Given the description of an element on the screen output the (x, y) to click on. 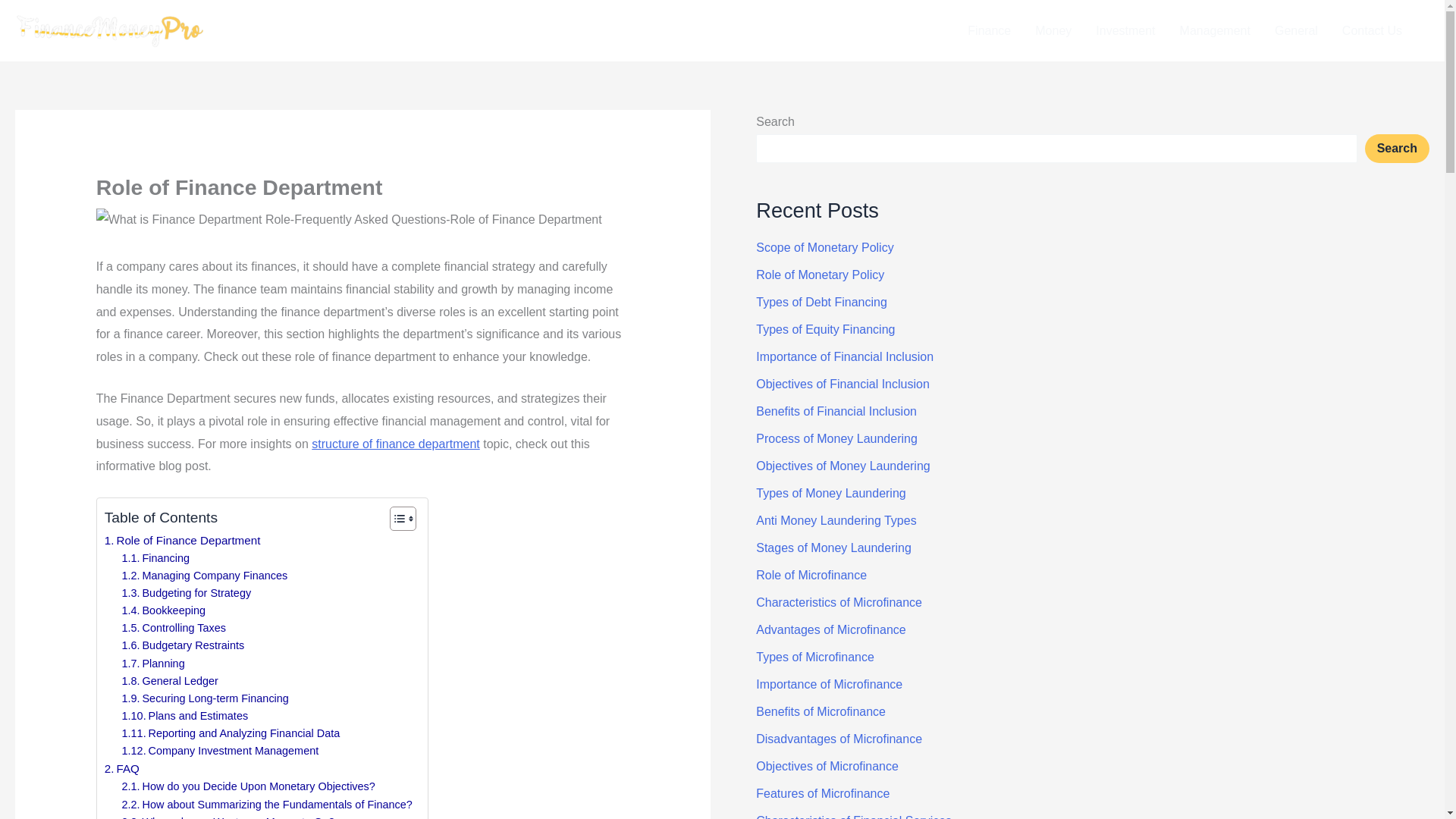
Role of Finance Department (182, 540)
Managing Company Finances (205, 575)
Role of Finance Department (182, 540)
Search (1397, 148)
Managing Company Finances (205, 575)
How do you Decide Upon Monetary Objectives? (248, 786)
Finance (989, 30)
Company Investment Management (220, 751)
Where do you Want your Money to Go? (228, 816)
Contact Us (1371, 30)
